Given the description of an element on the screen output the (x, y) to click on. 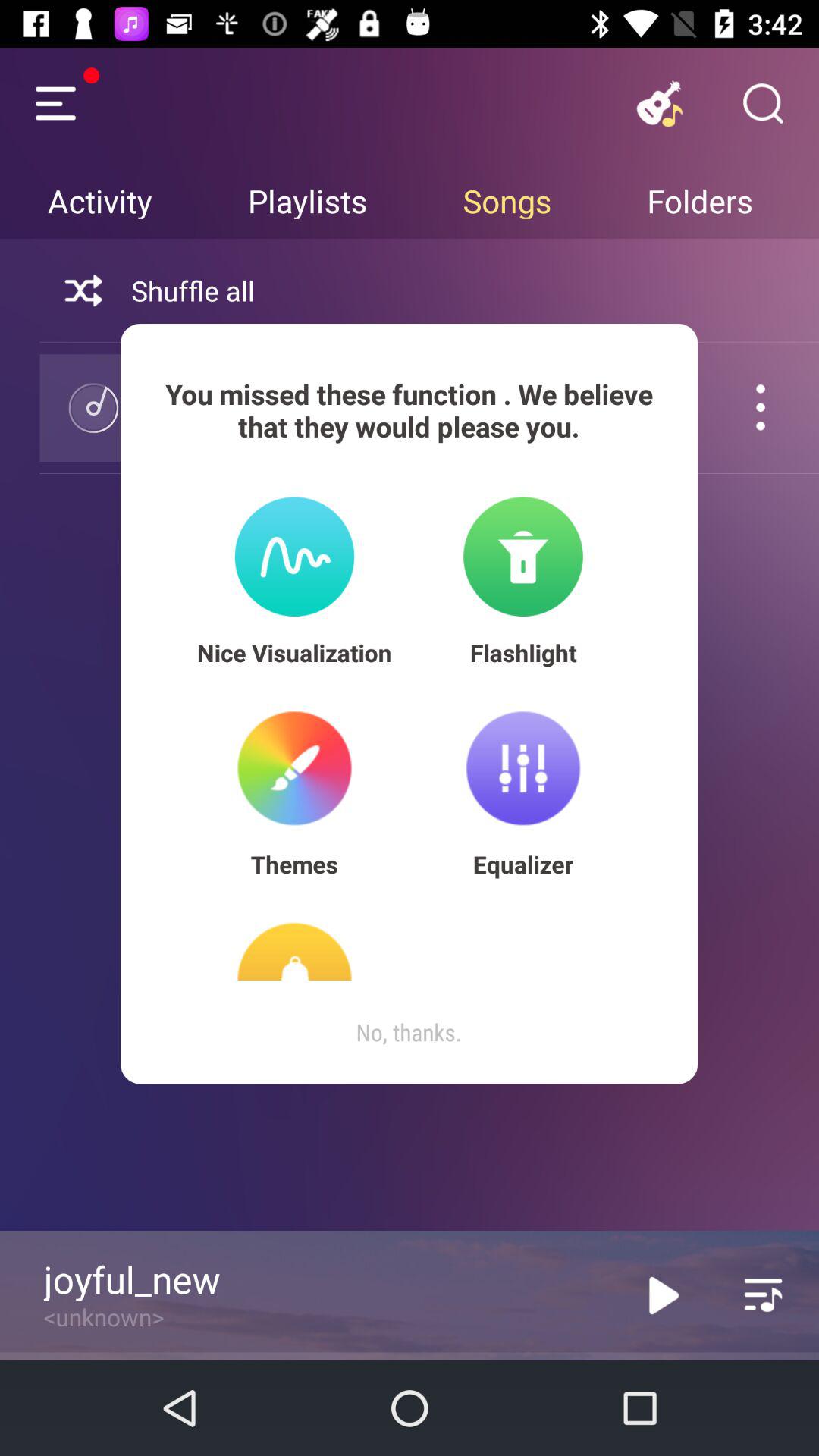
tap nice visualization item (294, 652)
